Given the description of an element on the screen output the (x, y) to click on. 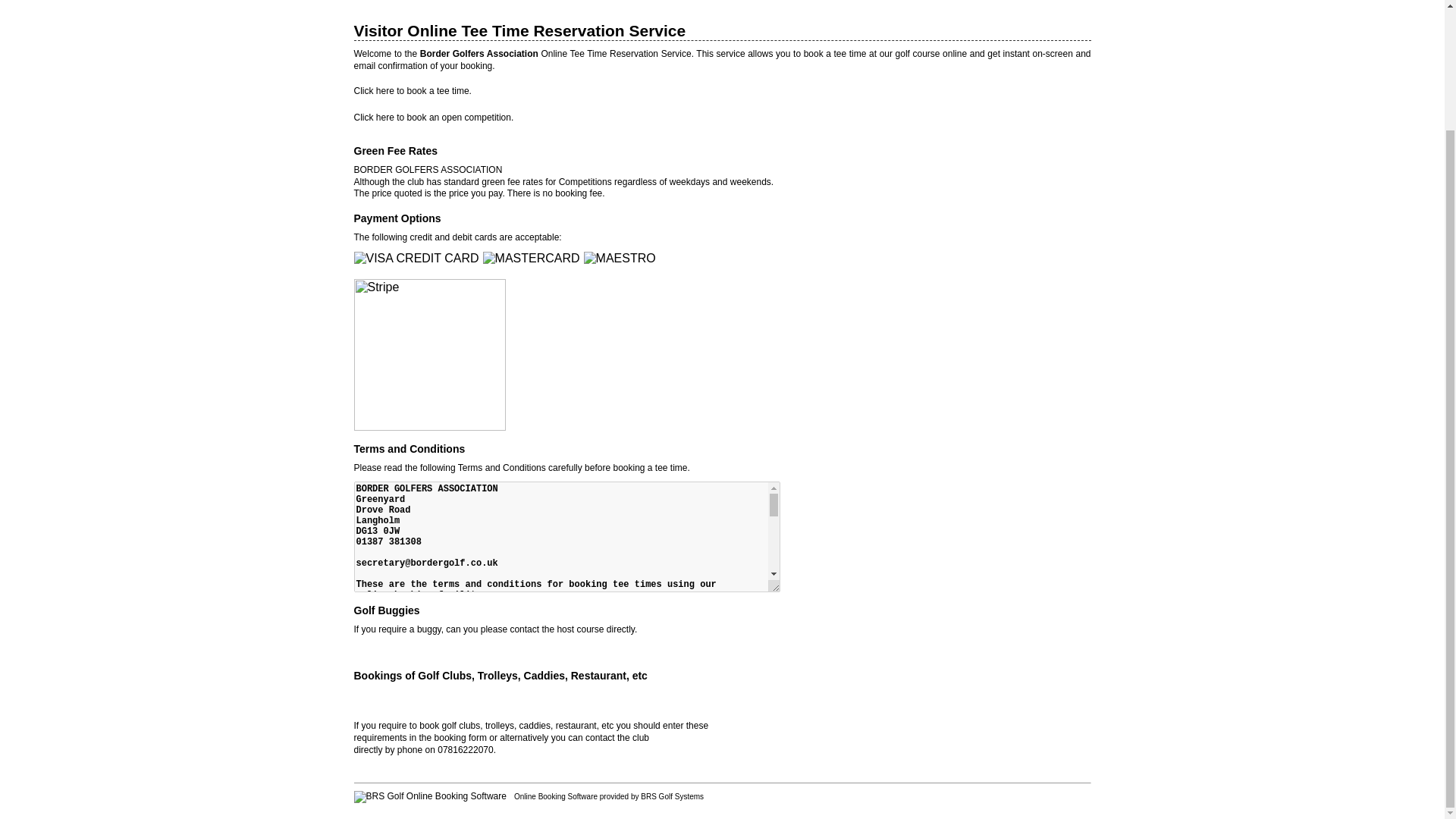
Click here to book an open competition. (433, 117)
MAESTRO (621, 258)
Stripe (430, 354)
Online Booking Software provided by BRS Golf Systems (608, 796)
VISA CREDIT CARD (417, 258)
Click here to book a tee time. (411, 90)
MASTERCARD (533, 258)
